Given the description of an element on the screen output the (x, y) to click on. 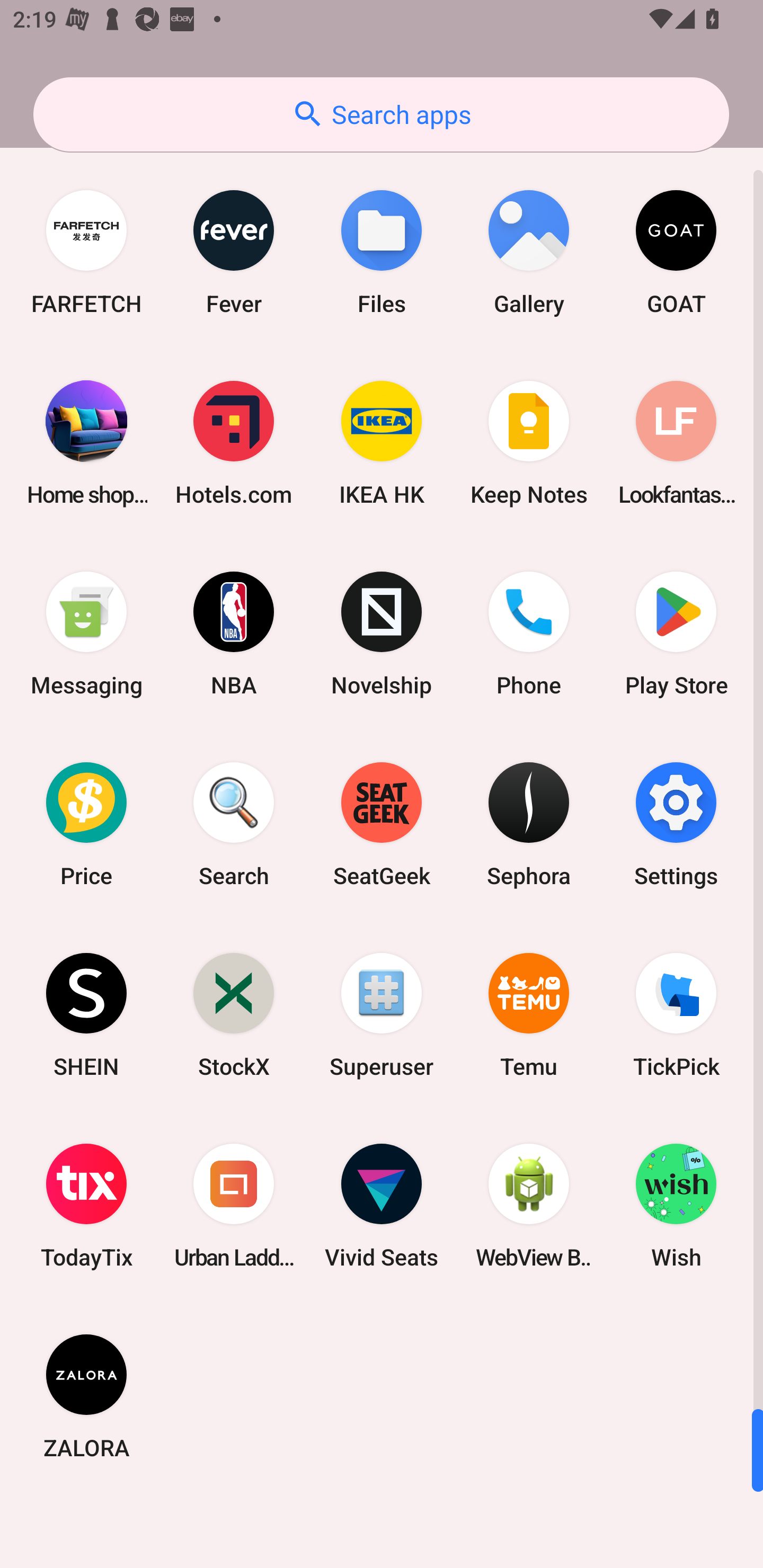
  Search apps (381, 114)
FARFETCH (86, 252)
Fever (233, 252)
Files (381, 252)
Gallery (528, 252)
GOAT (676, 252)
Home shopping (86, 442)
Hotels.com (233, 442)
IKEA HK (381, 442)
Keep Notes (528, 442)
Lookfantastic (676, 442)
Messaging (86, 633)
NBA (233, 633)
Novelship (381, 633)
Phone (528, 633)
Play Store (676, 633)
Price (86, 823)
Search (233, 823)
SeatGeek (381, 823)
Sephora (528, 823)
Settings (676, 823)
SHEIN (86, 1014)
StockX (233, 1014)
Superuser (381, 1014)
Temu (528, 1014)
TickPick (676, 1014)
TodayTix (86, 1205)
Urban Ladder (233, 1205)
Vivid Seats (381, 1205)
WebView Browser Tester (528, 1205)
Wish (676, 1205)
ZALORA (86, 1396)
